Given the description of an element on the screen output the (x, y) to click on. 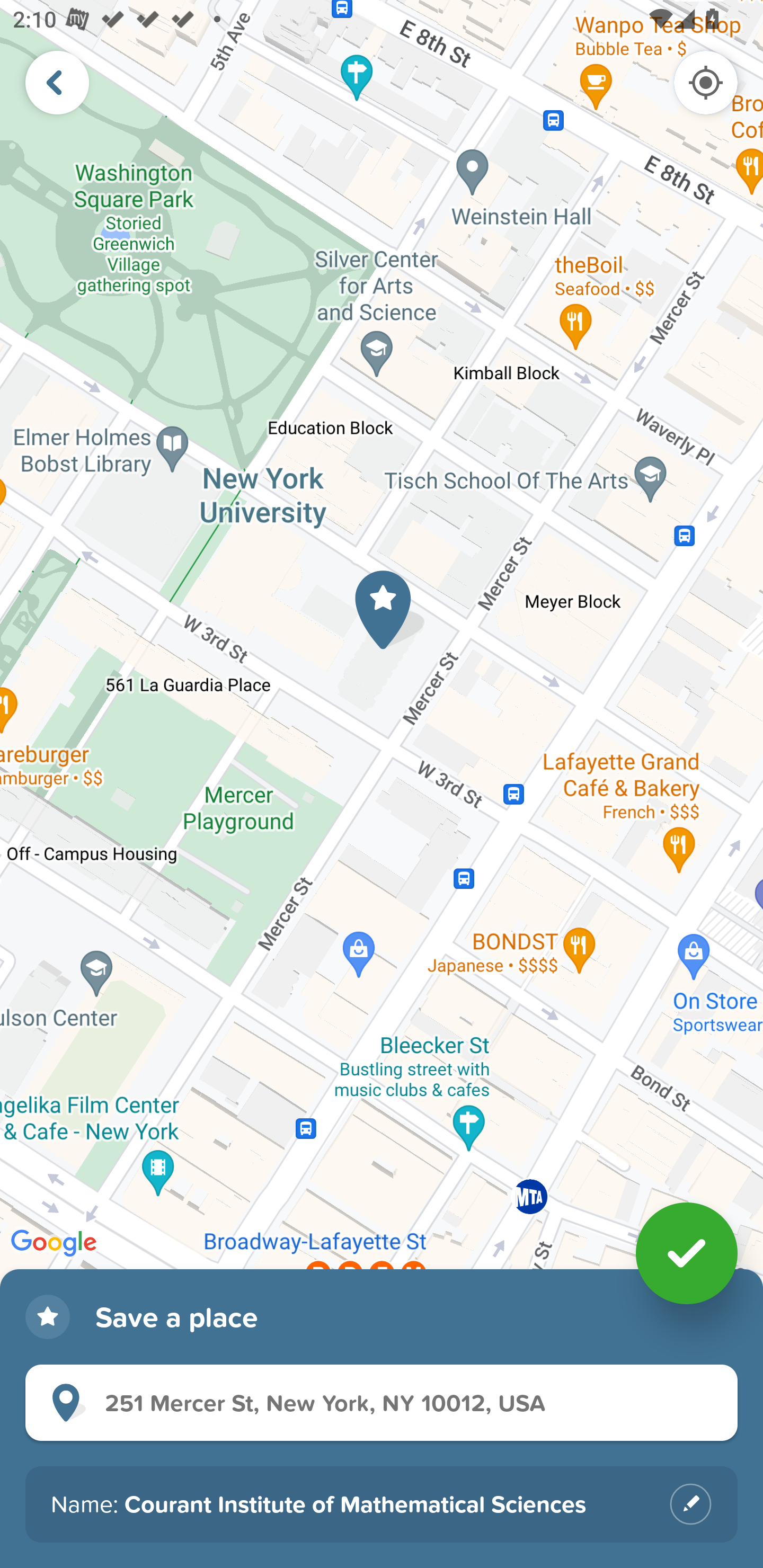
Name: Courant Institute of Mathematical Sciences (381, 1504)
